Given the description of an element on the screen output the (x, y) to click on. 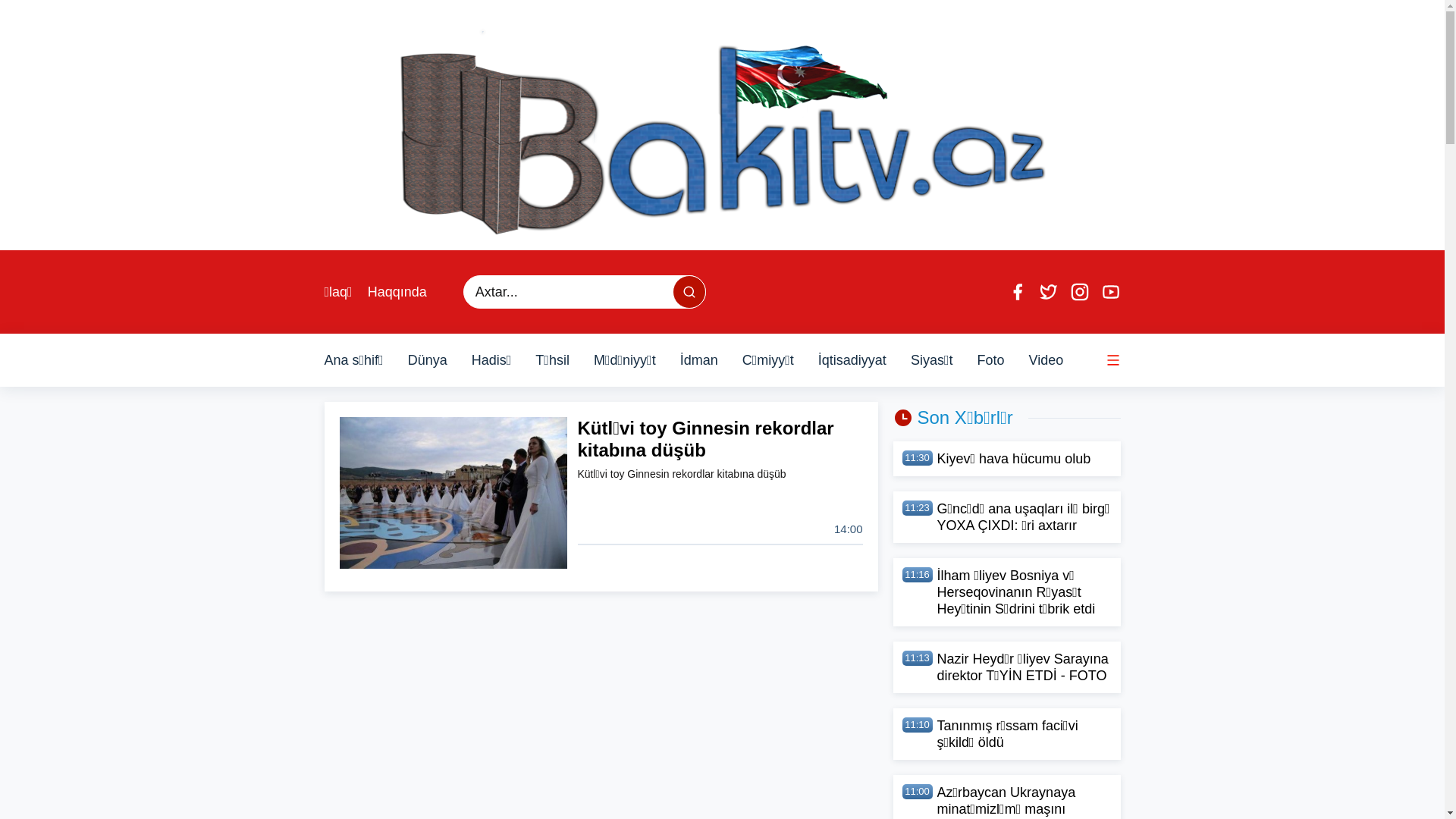
Instagram Element type: hover (1078, 291)
Video Element type: text (1045, 359)
Twitter Element type: hover (1048, 291)
Facebook Element type: hover (1016, 291)
Foto Element type: text (990, 359)
Axtar... Element type: hover (689, 291)
Youtube Element type: hover (1110, 291)
